Given the description of an element on the screen output the (x, y) to click on. 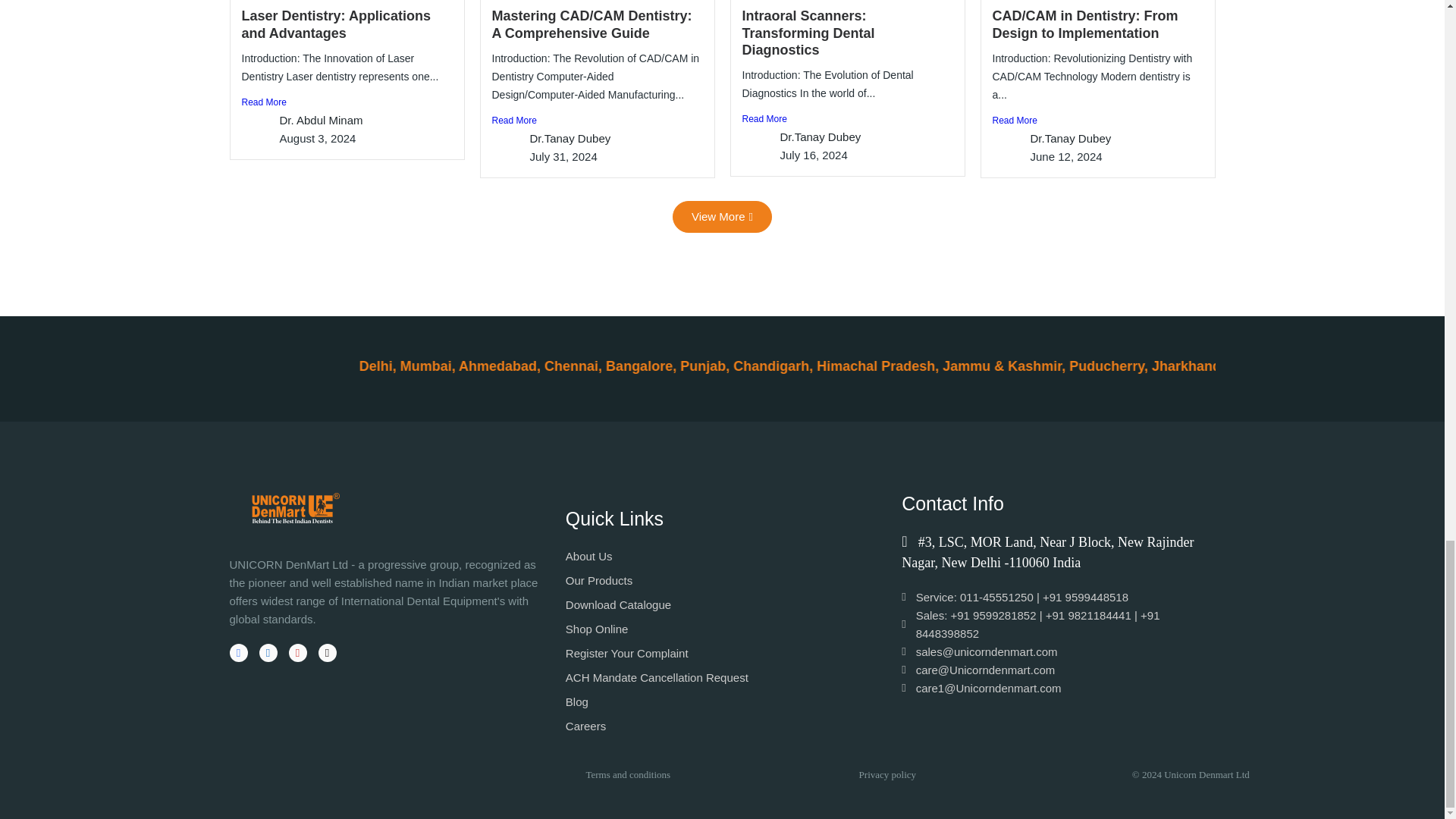
Intraoral Scanners: Transforming Dental Diagnostics (808, 32)
Posts by Dr.Tanay Dubey (819, 136)
Posts by Dr. Abdul Minam (320, 119)
Posts by Dr.Tanay Dubey (569, 137)
Posts by Dr.Tanay Dubey (1069, 137)
Laser Dentistry: Applications and Advantages (335, 24)
